Given the description of an element on the screen output the (x, y) to click on. 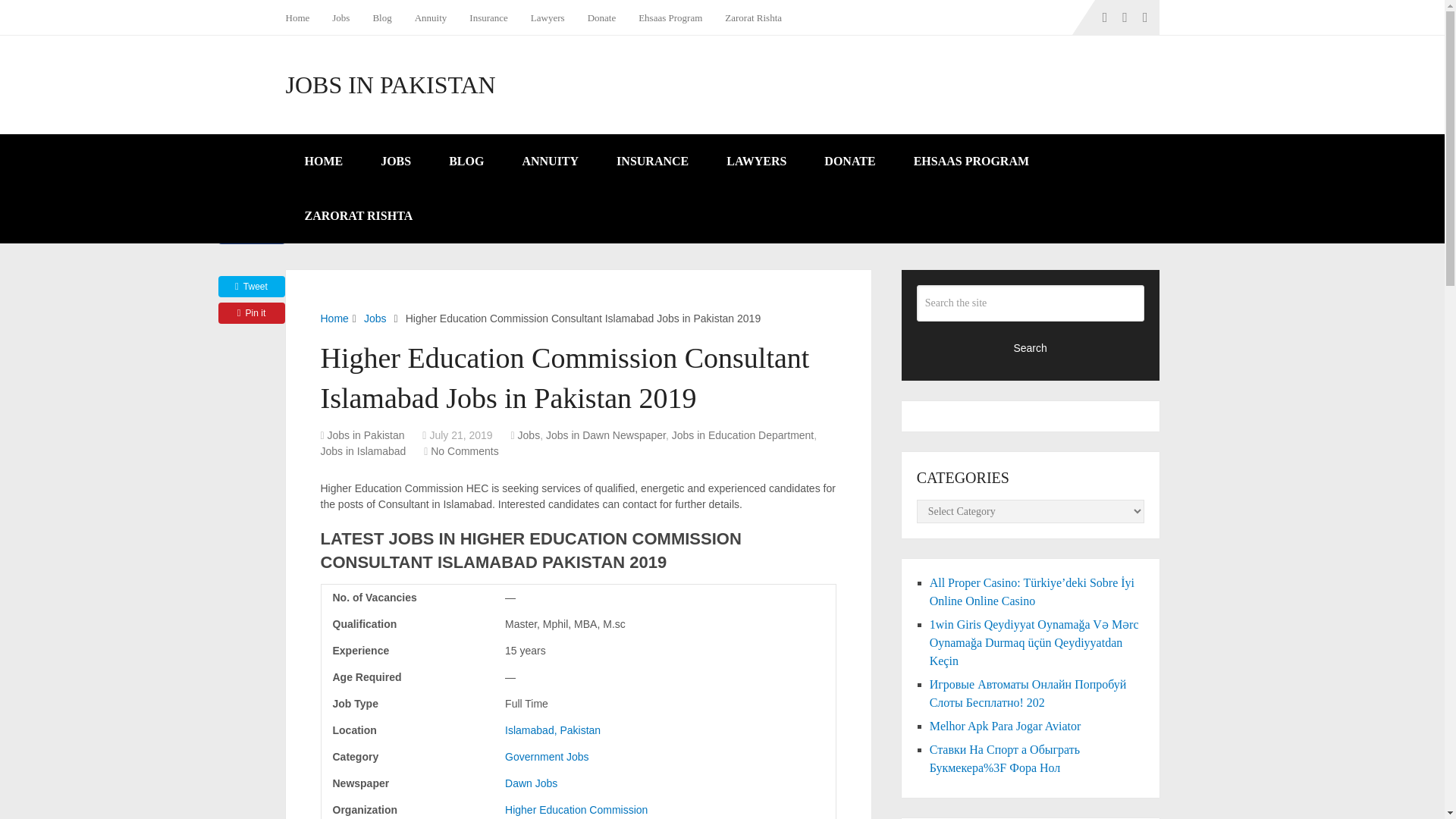
Ehsaas Program (670, 17)
HOME (323, 161)
LAWYERS (756, 161)
Blog (382, 17)
Home (302, 17)
Jobs (529, 435)
Lawyers (547, 17)
Donate (601, 17)
EHSAAS PROGRAM (971, 161)
ANNUITY (549, 161)
